Given the description of an element on the screen output the (x, y) to click on. 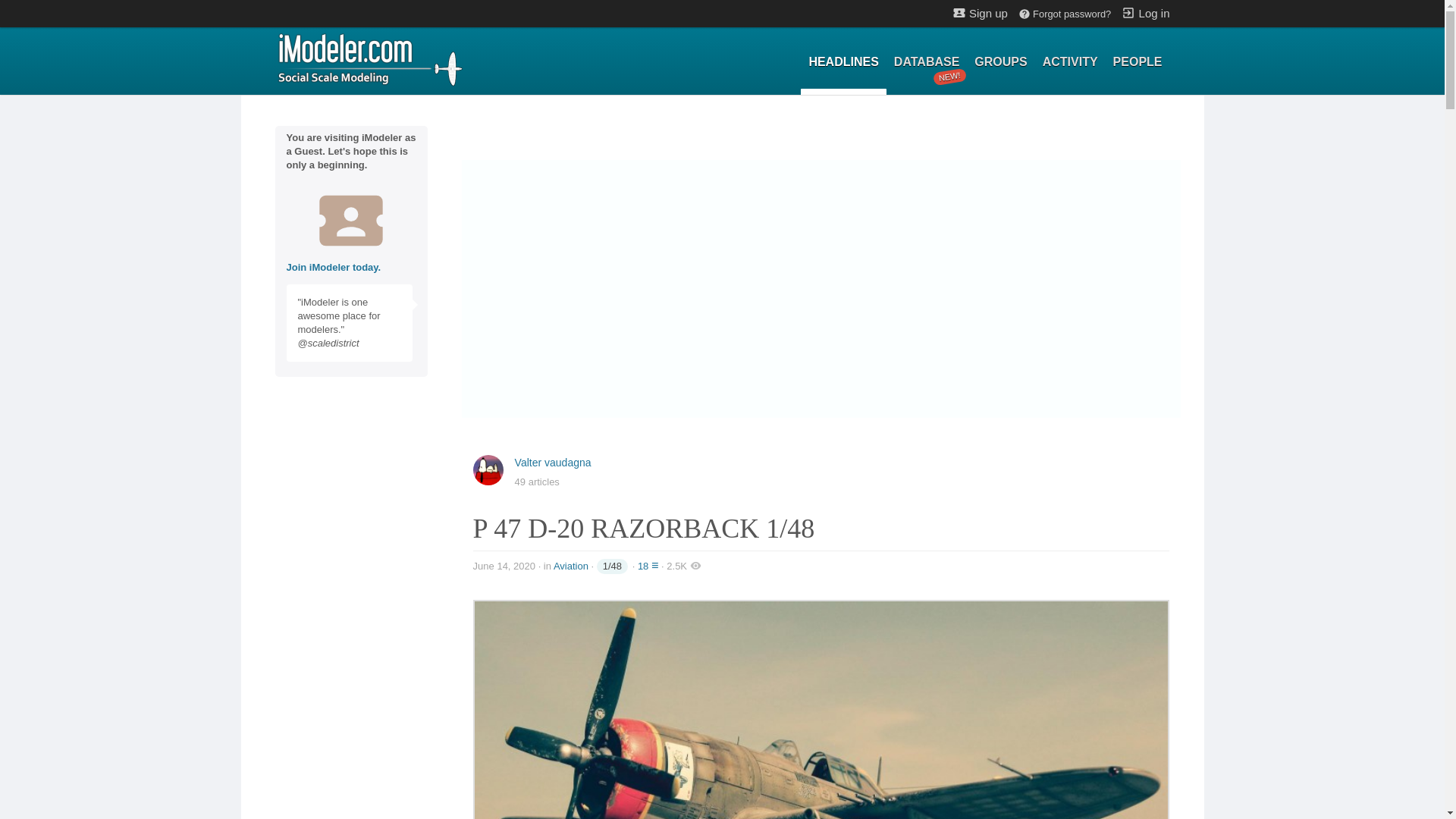
Forgot password? (1063, 13)
Aviation (570, 565)
Sign up (979, 12)
Log in (927, 61)
HEADLINES (1145, 12)
ACTIVITY (842, 61)
Home (1070, 61)
PEOPLE (369, 58)
GROUPS (1137, 61)
Valter vaudagna (999, 61)
Join iModeler today. (553, 462)
